Given the description of an element on the screen output the (x, y) to click on. 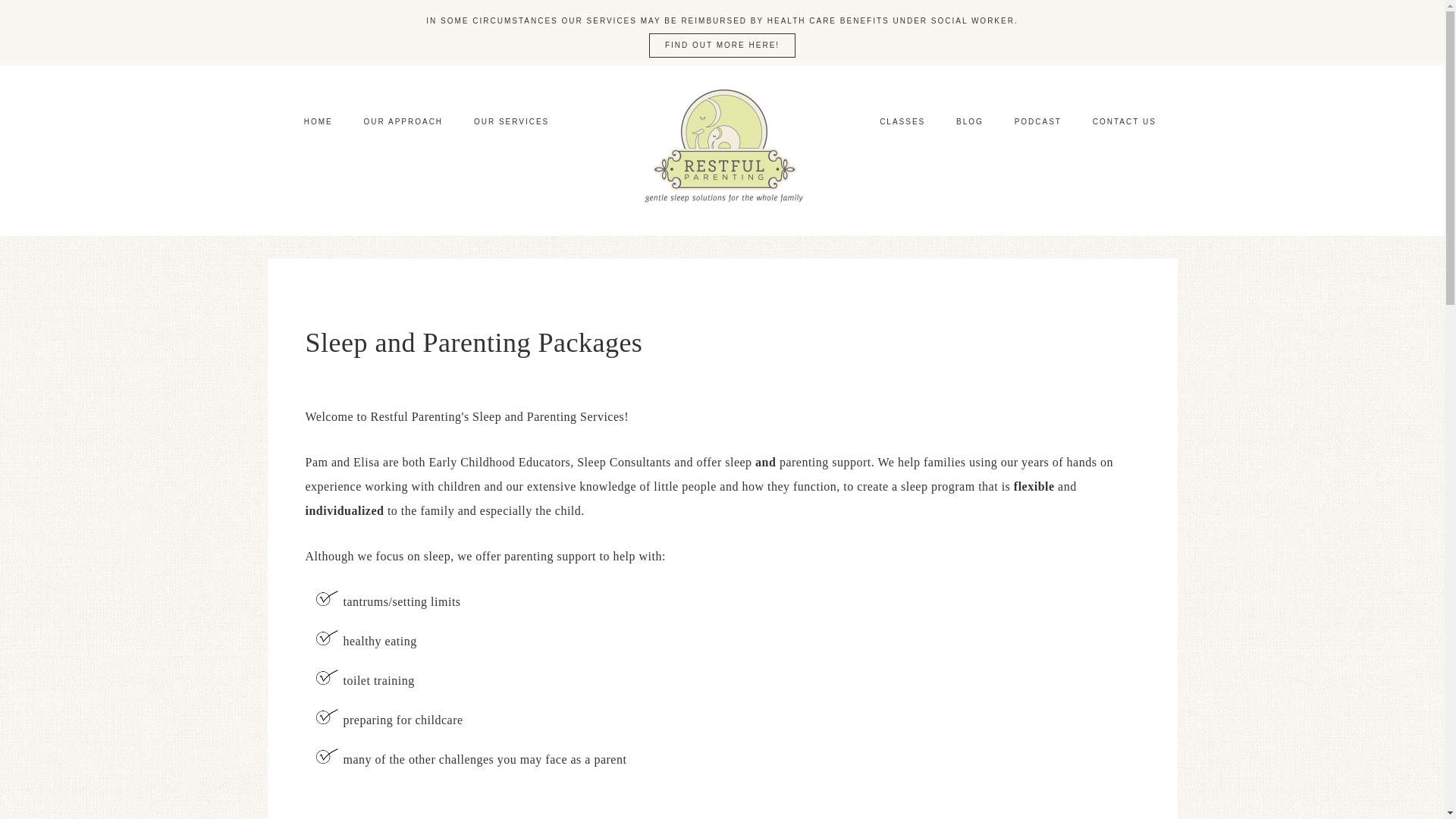
OUR APPROACH (403, 121)
OUR SERVICES (511, 121)
FIND OUT MORE HERE! (721, 45)
BLOG (969, 121)
CLASSES (902, 121)
RESTFUL PARENTING (722, 150)
HOME (317, 121)
PODCAST (1038, 121)
CONTACT US (1124, 121)
